Given the description of an element on the screen output the (x, y) to click on. 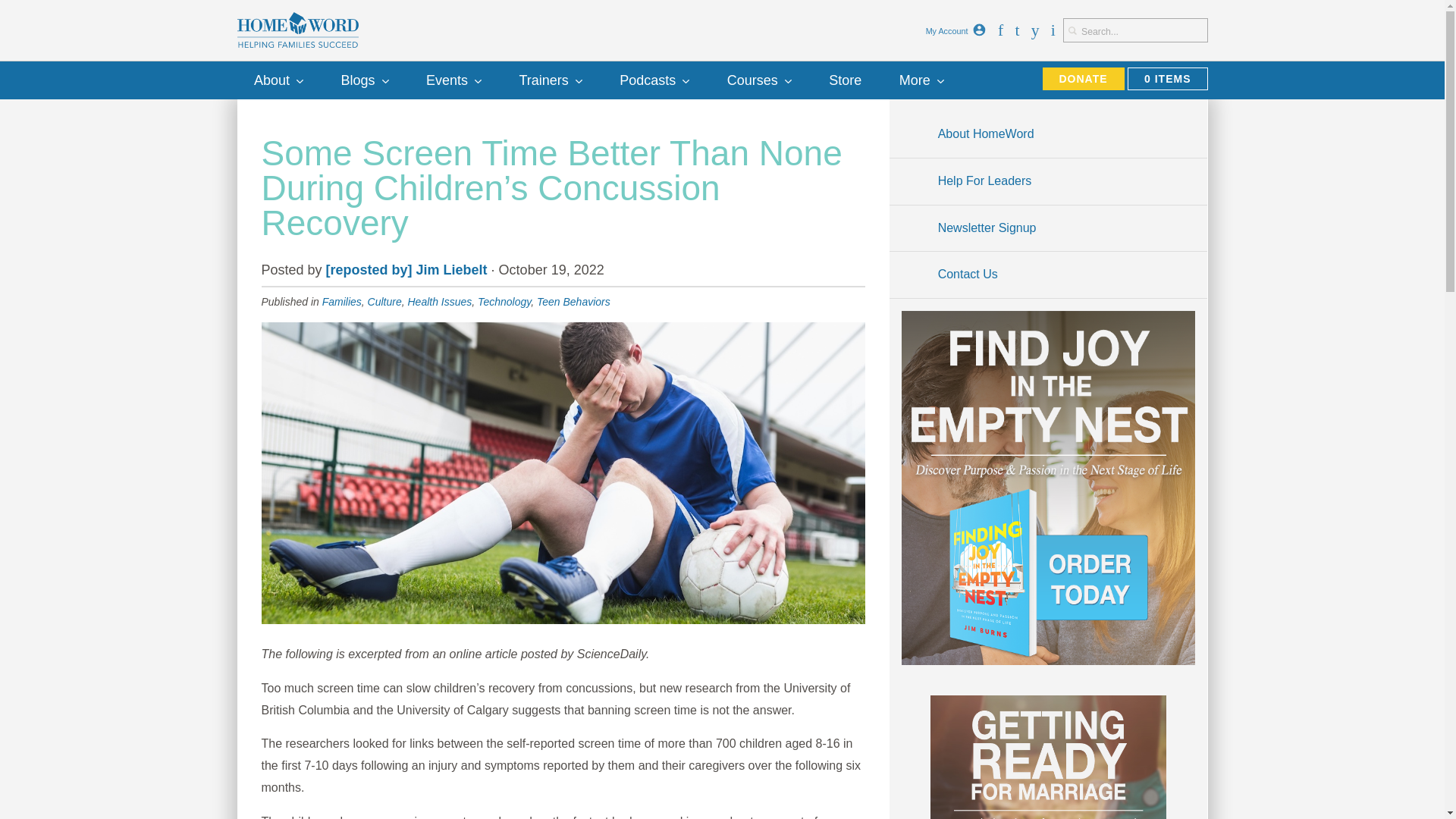
Trainers (550, 79)
Store (845, 79)
More (921, 79)
Events (453, 79)
My Account (979, 30)
Search (1072, 30)
About (277, 79)
Courses (759, 79)
Search (1072, 30)
View your shopping cart (1166, 78)
